Given the description of an element on the screen output the (x, y) to click on. 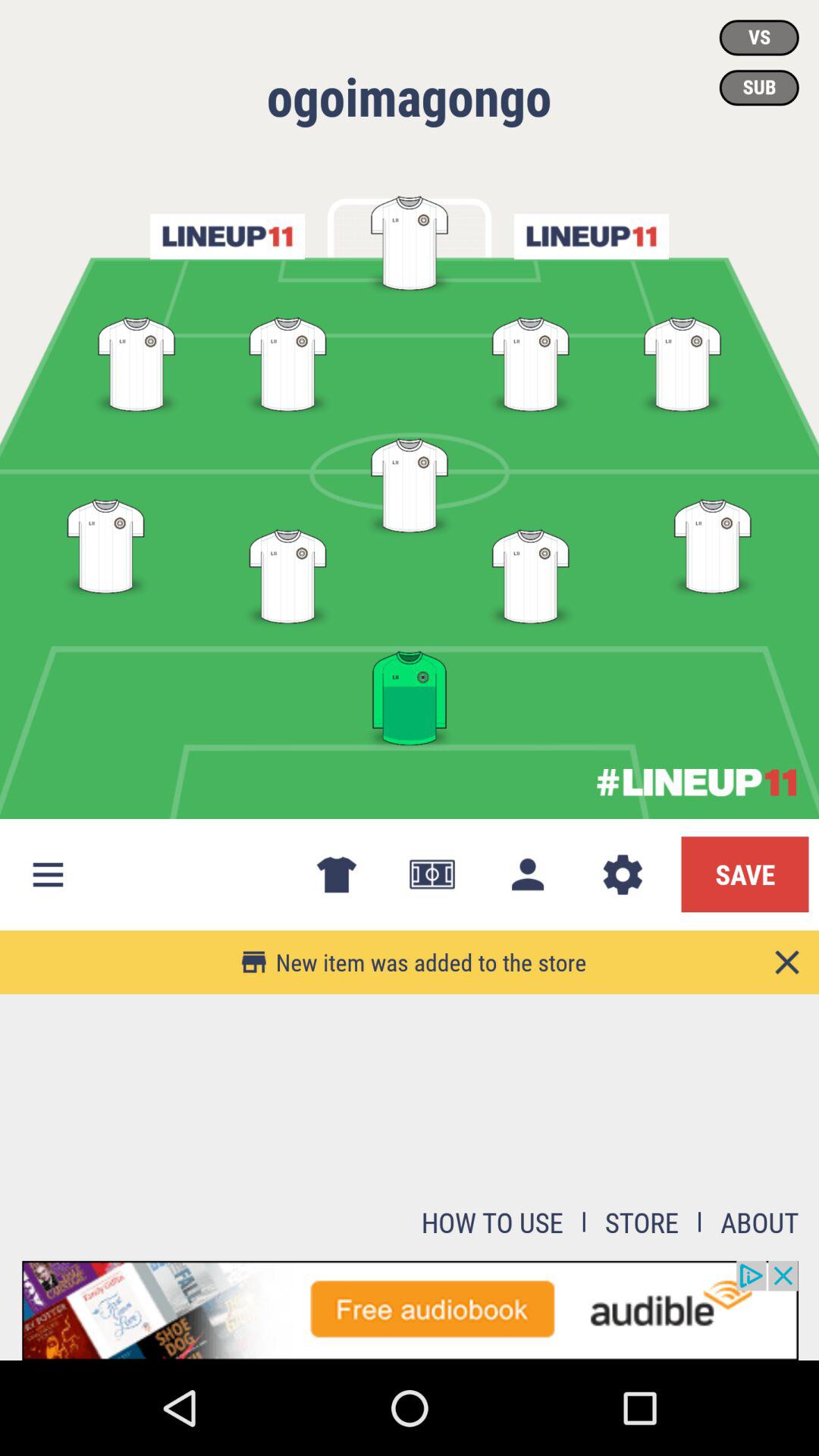
click on the image between lineup11 (409, 240)
select the fourth position in the fourth row from top (712, 543)
select the second position in the left from  top (288, 357)
select the fourth position in the second row from top (682, 357)
